Given the description of an element on the screen output the (x, y) to click on. 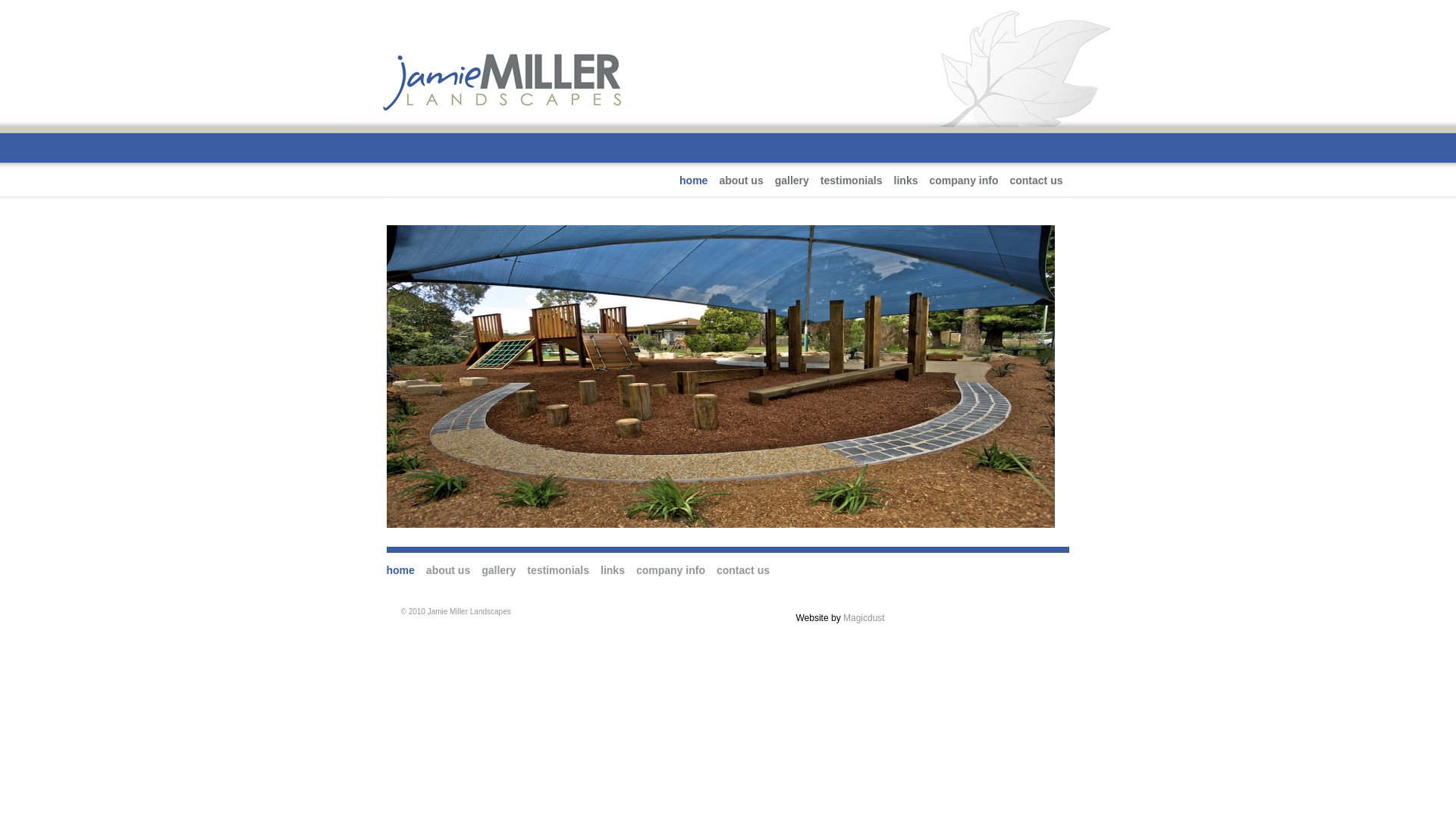
links Element type: text (906, 180)
home Element type: text (400, 570)
home Element type: text (693, 180)
about us Element type: text (448, 570)
about us Element type: text (740, 180)
contact us Element type: text (742, 570)
contact us Element type: text (1035, 180)
Magicdust Element type: text (863, 617)
testimonials Element type: text (558, 570)
company info Element type: text (670, 570)
gallery Element type: text (498, 570)
gallery Element type: text (792, 180)
links Element type: text (612, 570)
company info Element type: text (962, 180)
testimonials Element type: text (851, 180)
